Given the description of an element on the screen output the (x, y) to click on. 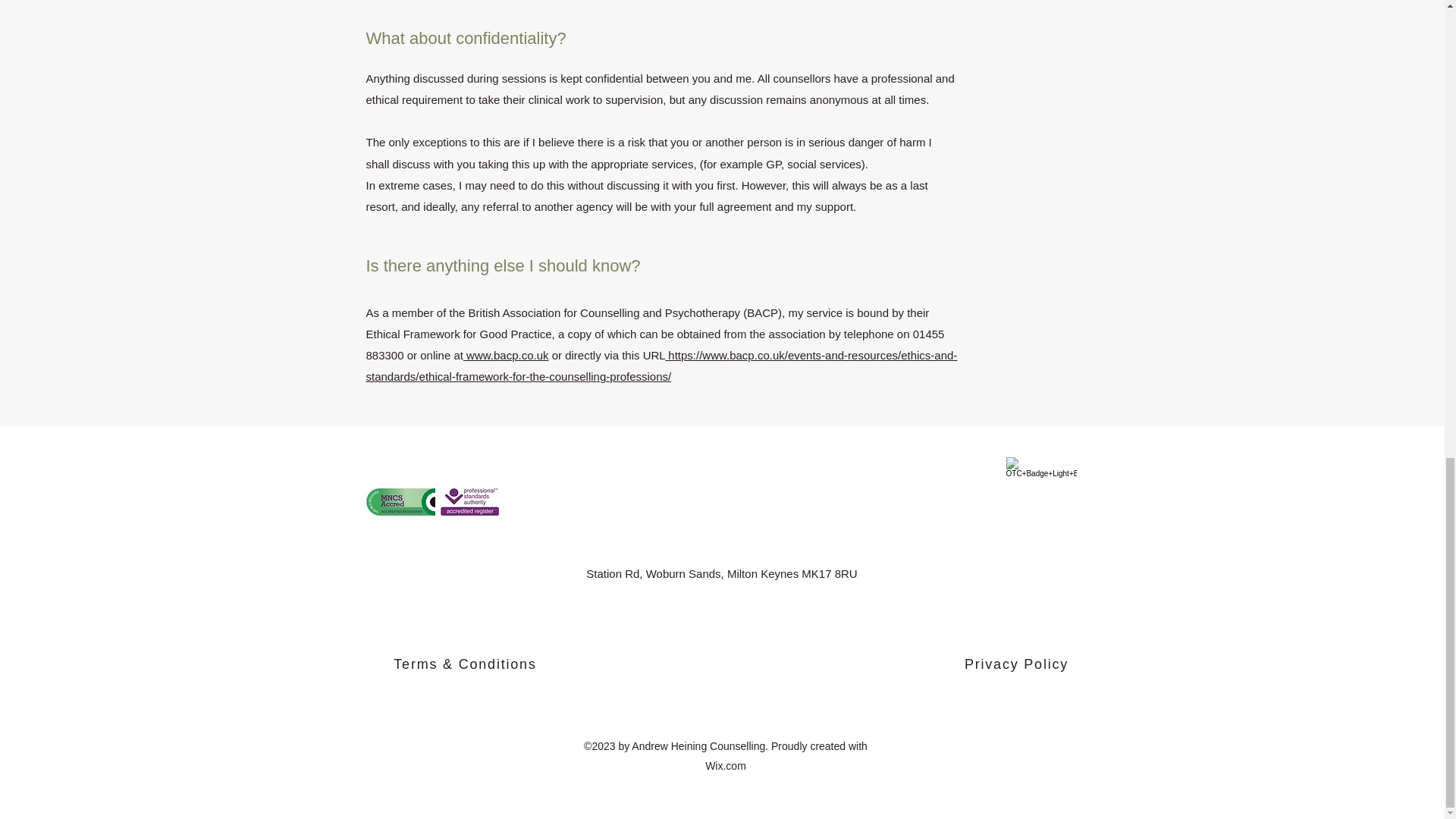
mncs-accred-logo.jpg (433, 501)
 www.bacp.co.uk (505, 354)
Privacy Policy (1017, 665)
